Given the description of an element on the screen output the (x, y) to click on. 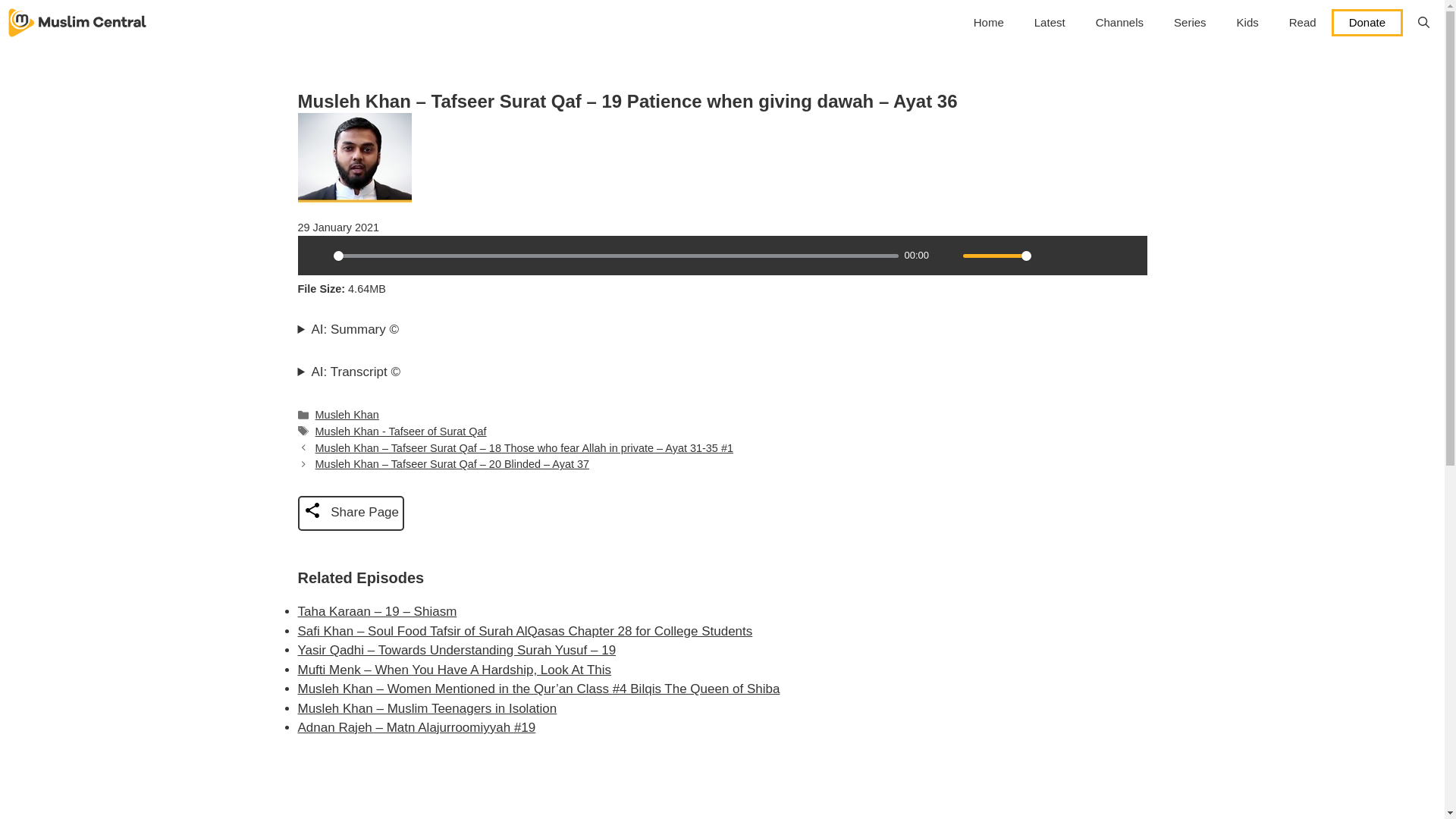
Musleh Khan (346, 414)
0 (615, 255)
Play (316, 255)
1 (996, 255)
Donate (1367, 22)
Home (988, 22)
Latest (1049, 22)
Read (1303, 22)
Musleh Khan - Tafseer of Surat Qaf (400, 431)
Mute (946, 255)
